Given the description of an element on the screen output the (x, y) to click on. 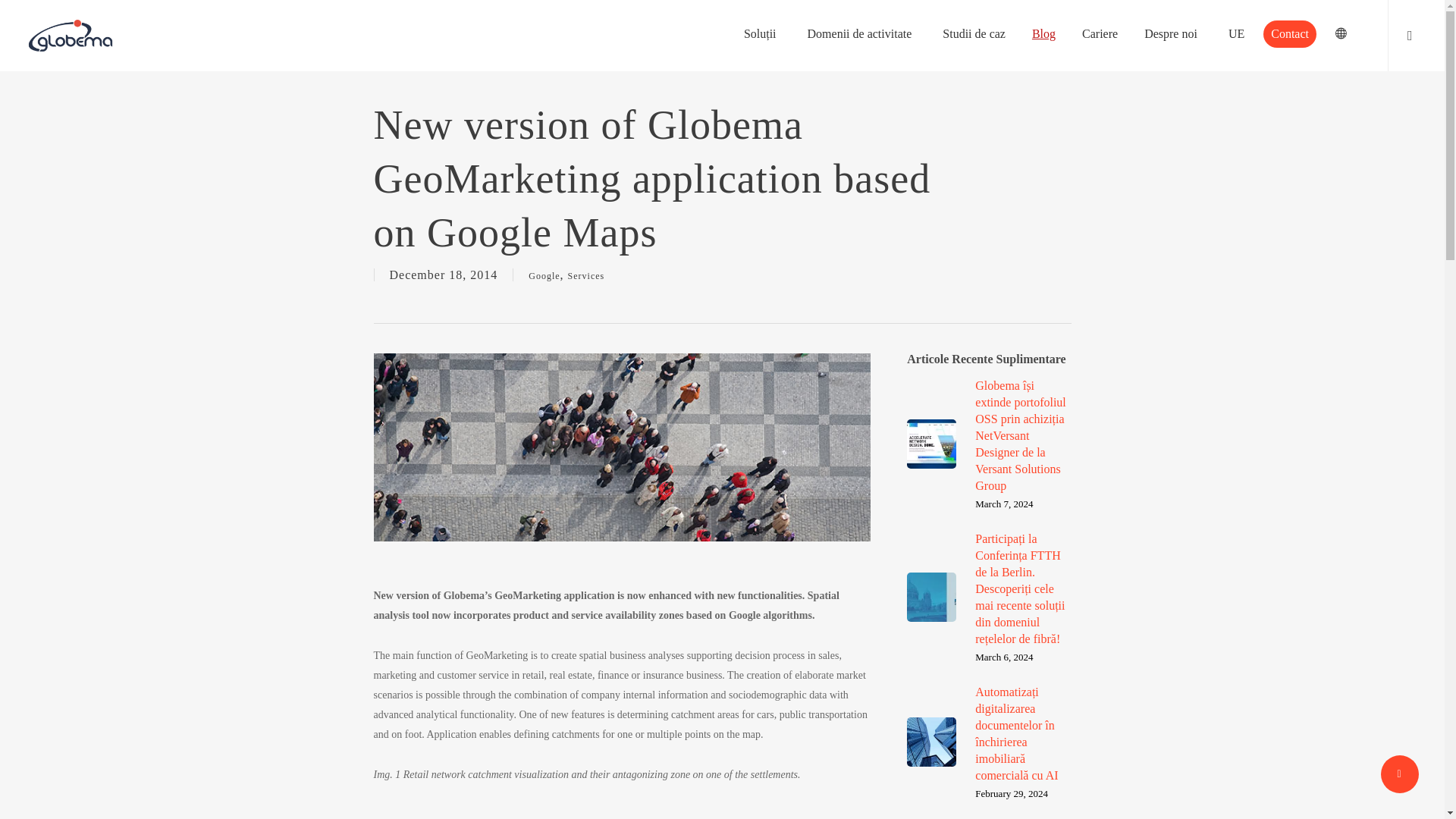
Studii de caz (973, 33)
Despre noi (1173, 33)
Contact (1289, 33)
Domenii de activitate (861, 33)
